Given the description of an element on the screen output the (x, y) to click on. 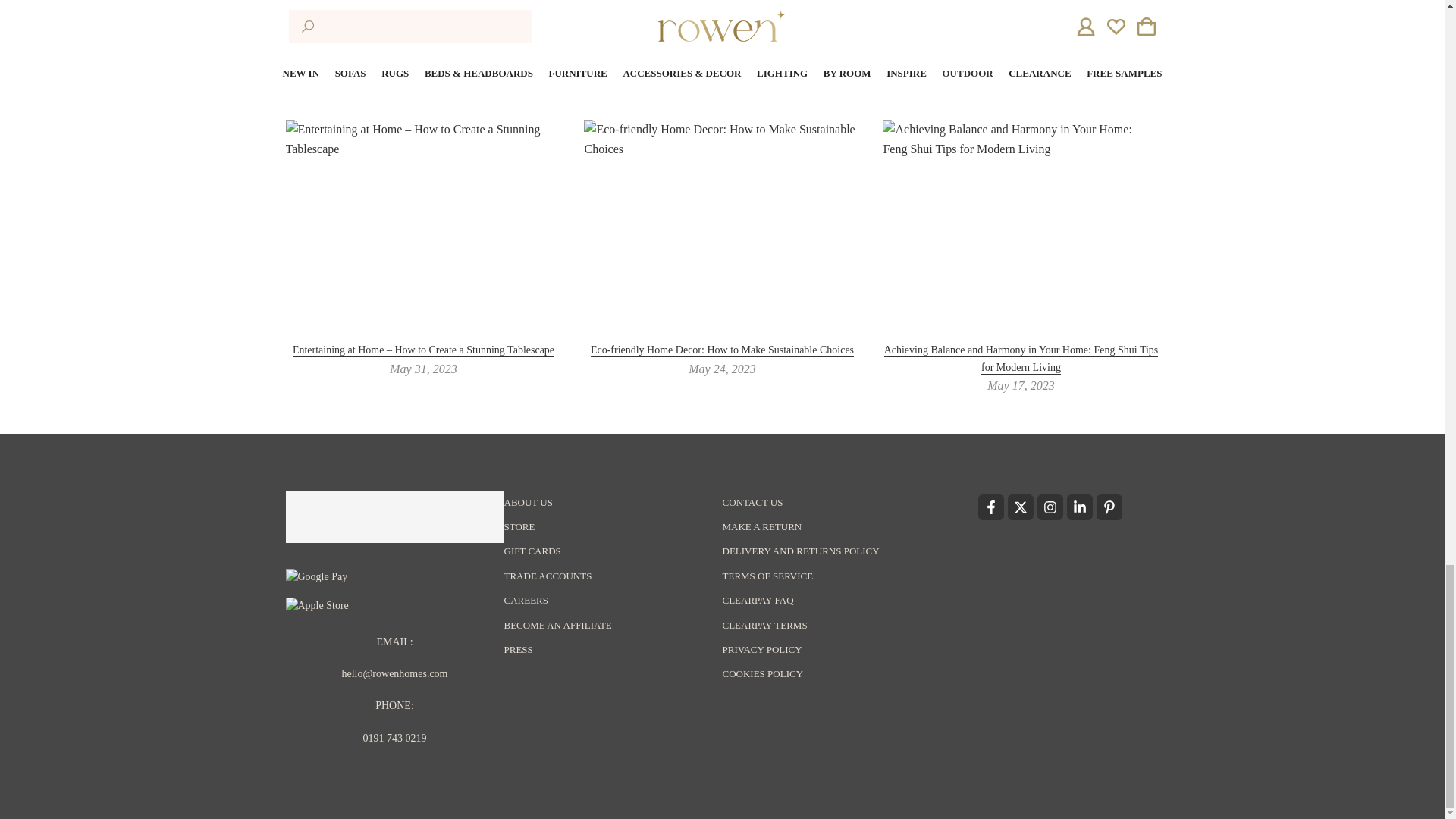
Follow on Linkedin (1078, 507)
Back to Blog (722, 20)
Eco-friendly Home Decor: How to Make Sustainable Choices (722, 350)
Follow on Twitter (1019, 507)
tel:01917430219 (394, 737)
Follow on Pinterest (1109, 507)
Everything You Need To Know About LED Lights (797, 20)
Love it or hate it? The faux-fur bed that is turning heads! (646, 20)
Follow on Facebook (991, 507)
